Given the description of an element on the screen output the (x, y) to click on. 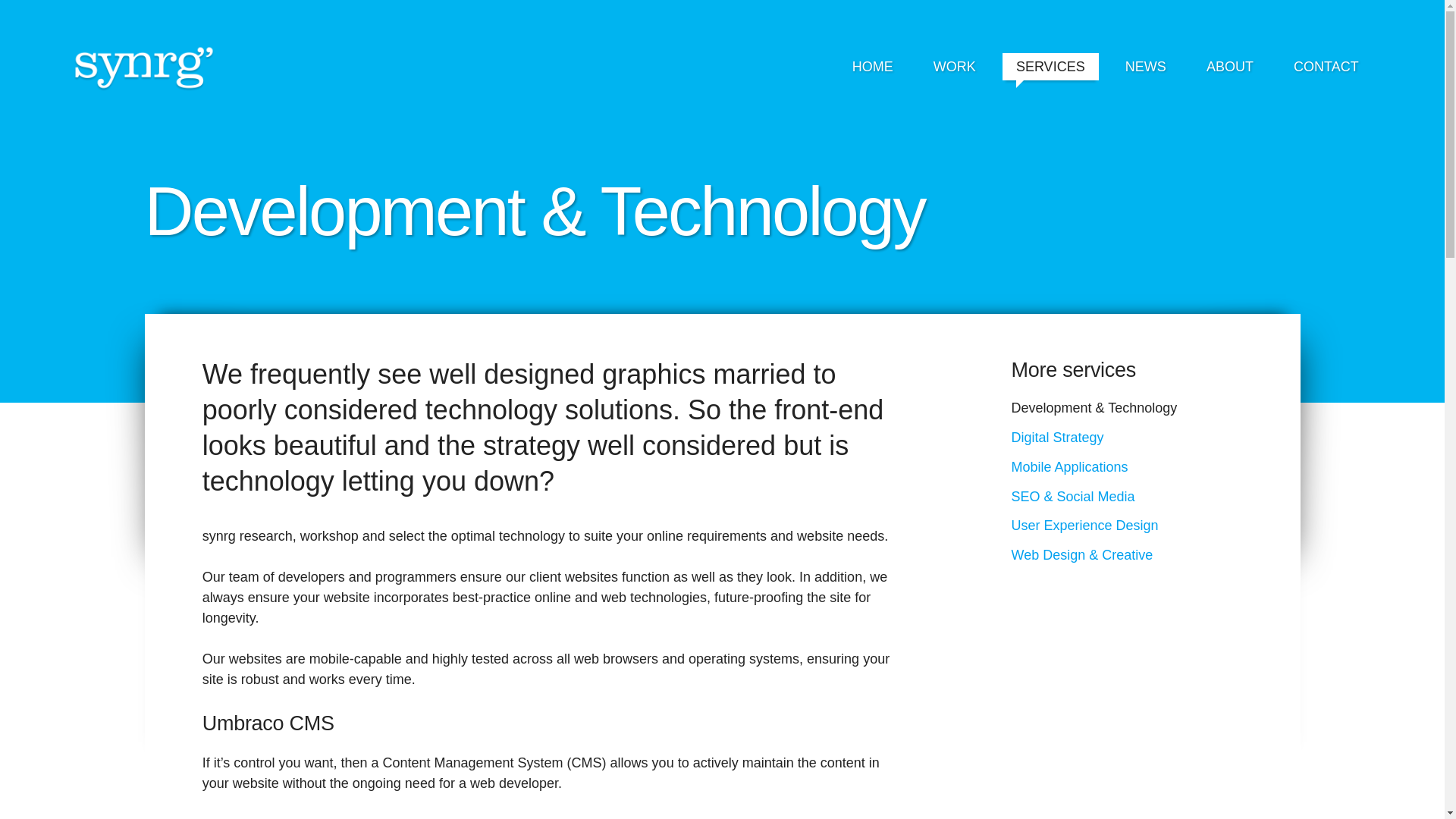
News (1145, 70)
User Experience Design (1084, 525)
Digital Strategy (1057, 437)
Contact (1326, 70)
Umbraco (328, 817)
Mobile Applications (1069, 467)
CONTACT (1326, 70)
HOME (872, 70)
SERVICES (1051, 70)
NEWS (1145, 70)
Home (872, 70)
Umbraco CMS website (328, 817)
Services (1051, 70)
About (1229, 70)
ABOUT (1229, 70)
